Given the description of an element on the screen output the (x, y) to click on. 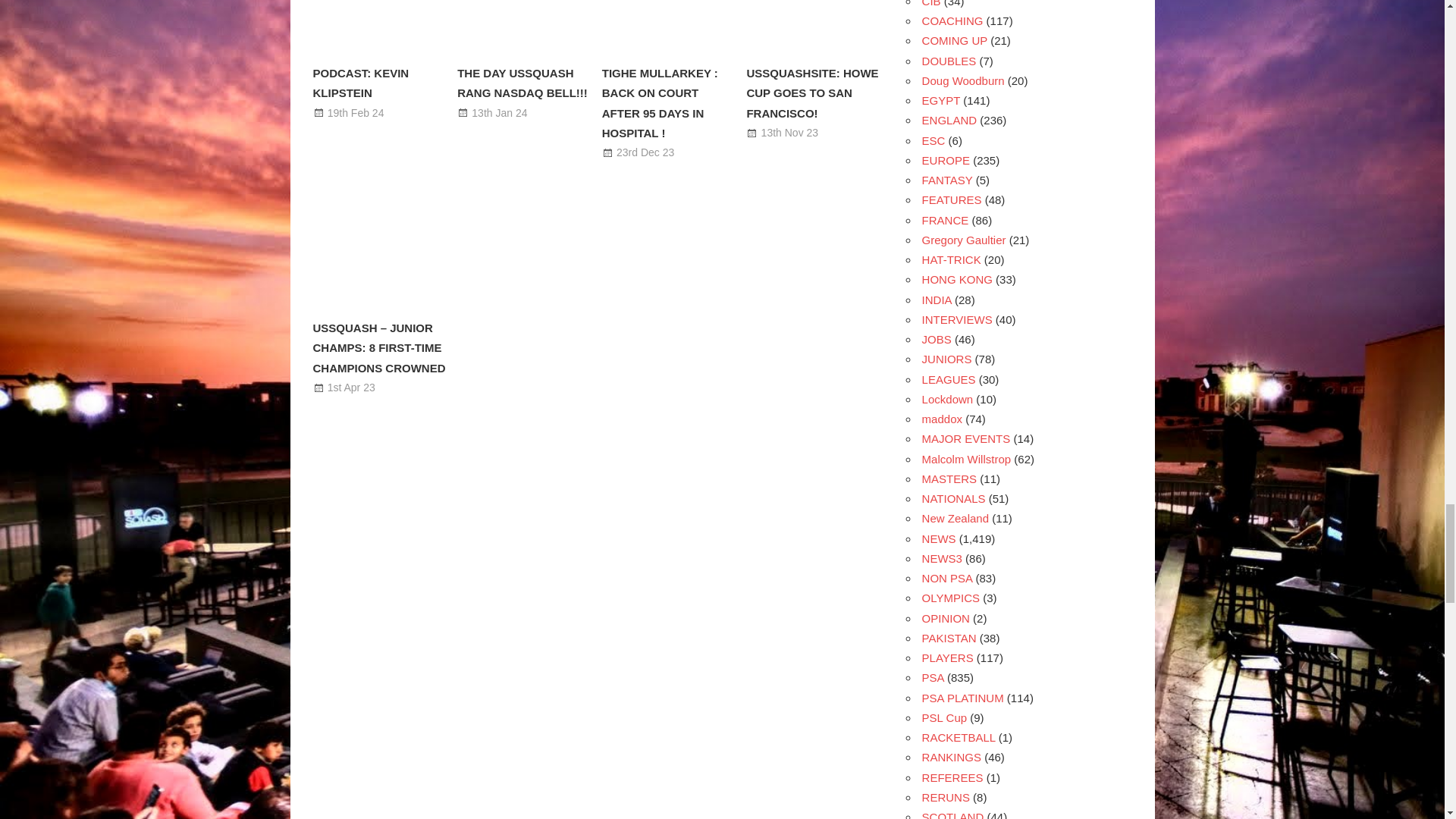
17:11 (644, 152)
04:03 (789, 132)
22:41 (351, 387)
23:50 (499, 112)
20:41 (355, 112)
